Given the description of an element on the screen output the (x, y) to click on. 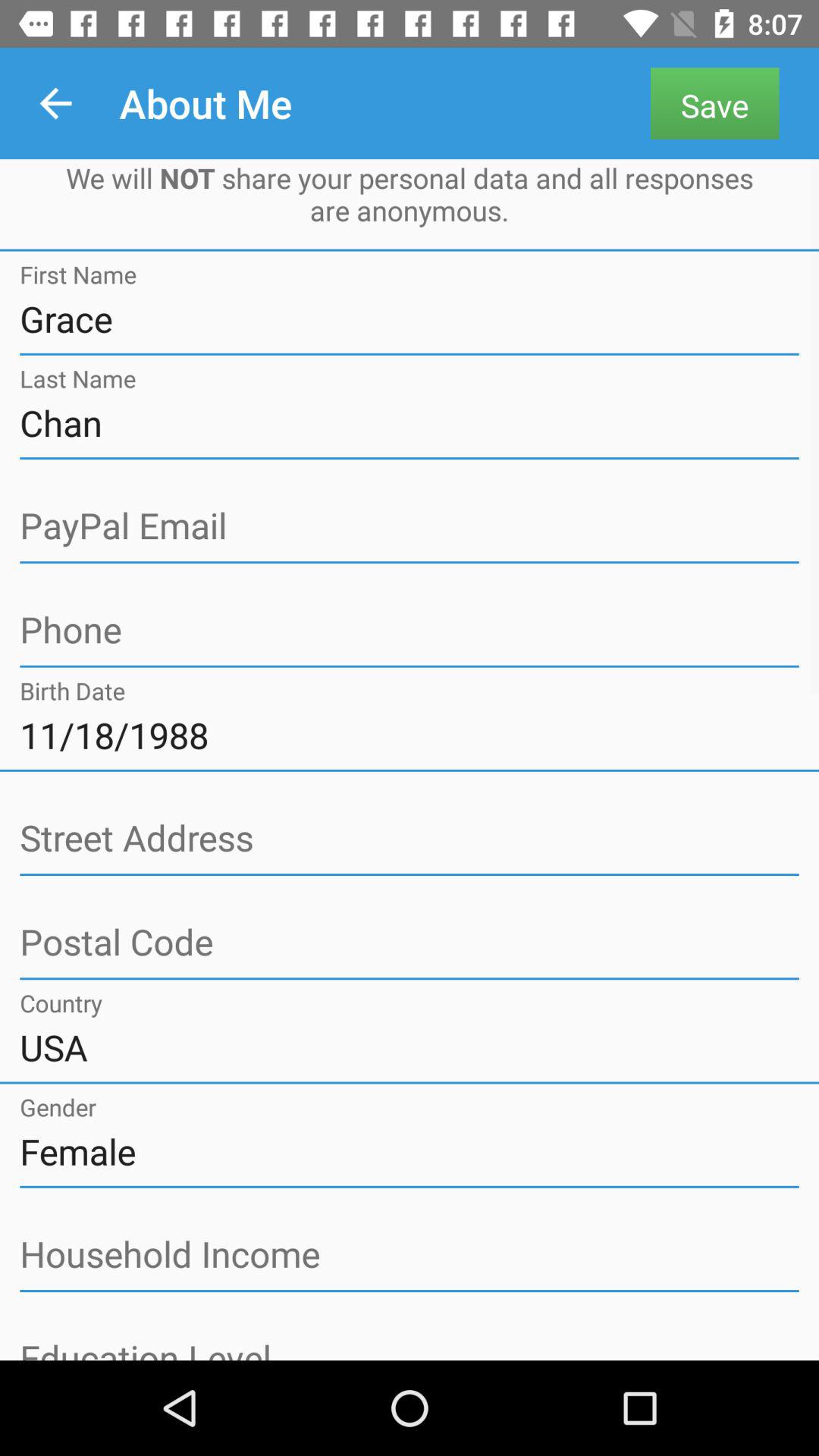
about page (409, 526)
